Given the description of an element on the screen output the (x, y) to click on. 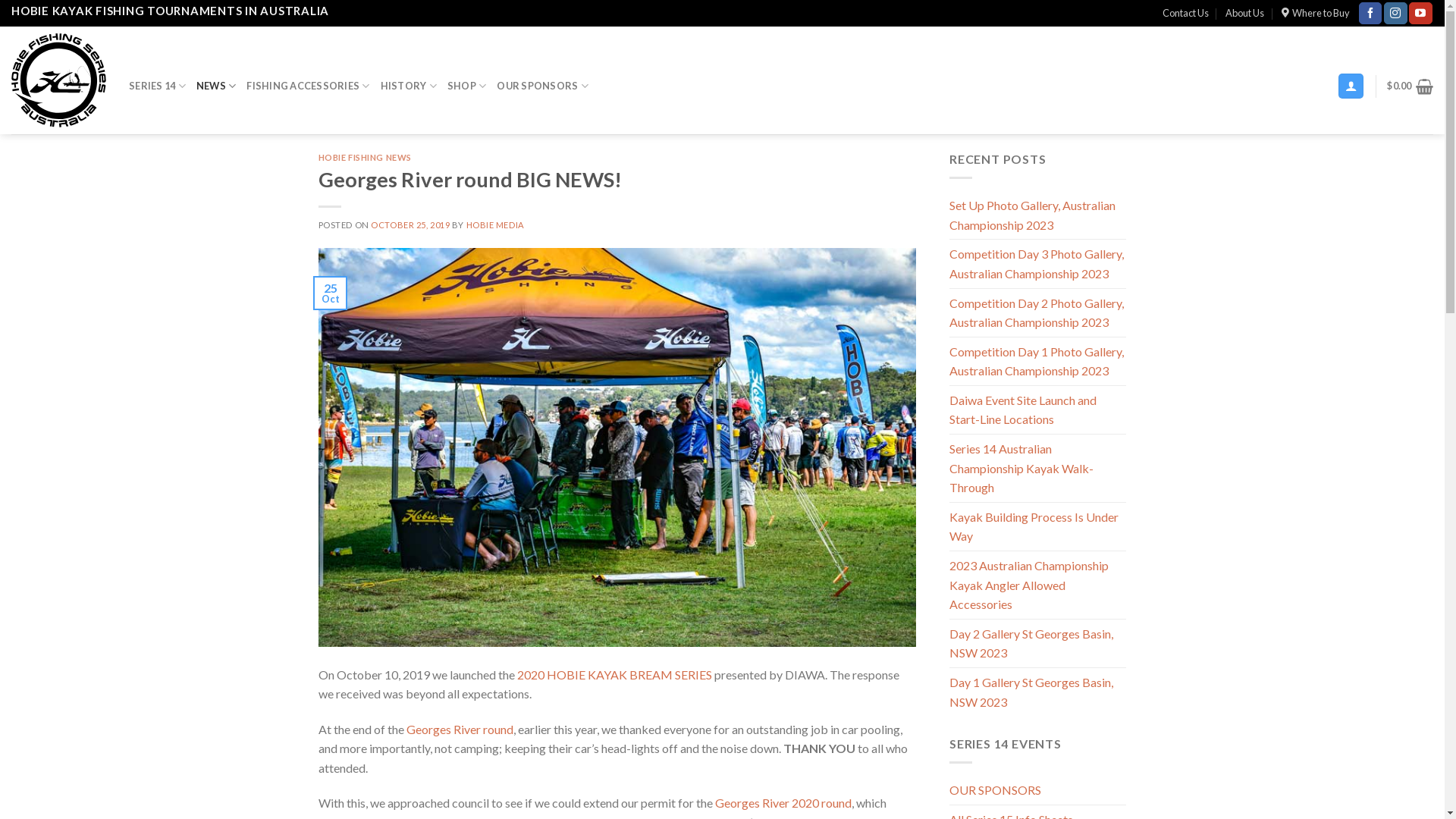
Follow on Instagram Element type: hover (1394, 13)
NEWS Element type: text (215, 85)
SHOP Element type: text (466, 85)
HOBIE FISHING NEWS Element type: text (364, 157)
Georges River round Element type: text (459, 728)
Follow on Facebook Element type: hover (1369, 13)
Georges River 2020 round Element type: text (783, 802)
OUR SPONSORS Element type: text (995, 789)
LOGIN Element type: text (716, 209)
HOBIE MEDIA Element type: text (495, 224)
Set Up Photo Gallery, Australian Championship 2023 Element type: text (1037, 214)
About Us Element type: text (1244, 12)
$0.00 Element type: text (1409, 85)
2020 HOBIE KAYAK BREAM SERIES Element type: text (614, 674)
OCTOBER 25, 2019 Element type: text (409, 224)
Follow on YouTube Element type: hover (1419, 13)
SERIES 14 Element type: text (156, 85)
OUR SPONSORS Element type: text (542, 85)
Day 1 Gallery St Georges Basin, NSW 2023 Element type: text (1037, 691)
Day 2 Gallery St Georges Basin, NSW 2023 Element type: text (1037, 643)
FISHING ACCESSORIES Element type: text (307, 85)
HISTORY Element type: text (408, 85)
Contact Us Element type: text (1185, 12)
  Where to Buy Element type: text (1315, 12)
Kayak Building Process Is Under Way Element type: text (1037, 526)
Series 14 Australian Championship Kayak Walk-Through Element type: text (1037, 468)
Hobie Kayak Fishing Series - Hobie Fishing Asia Pacific Element type: hover (58, 80)
Daiwa Event Site Launch and Start-Line Locations Element type: text (1037, 409)
